Given the description of an element on the screen output the (x, y) to click on. 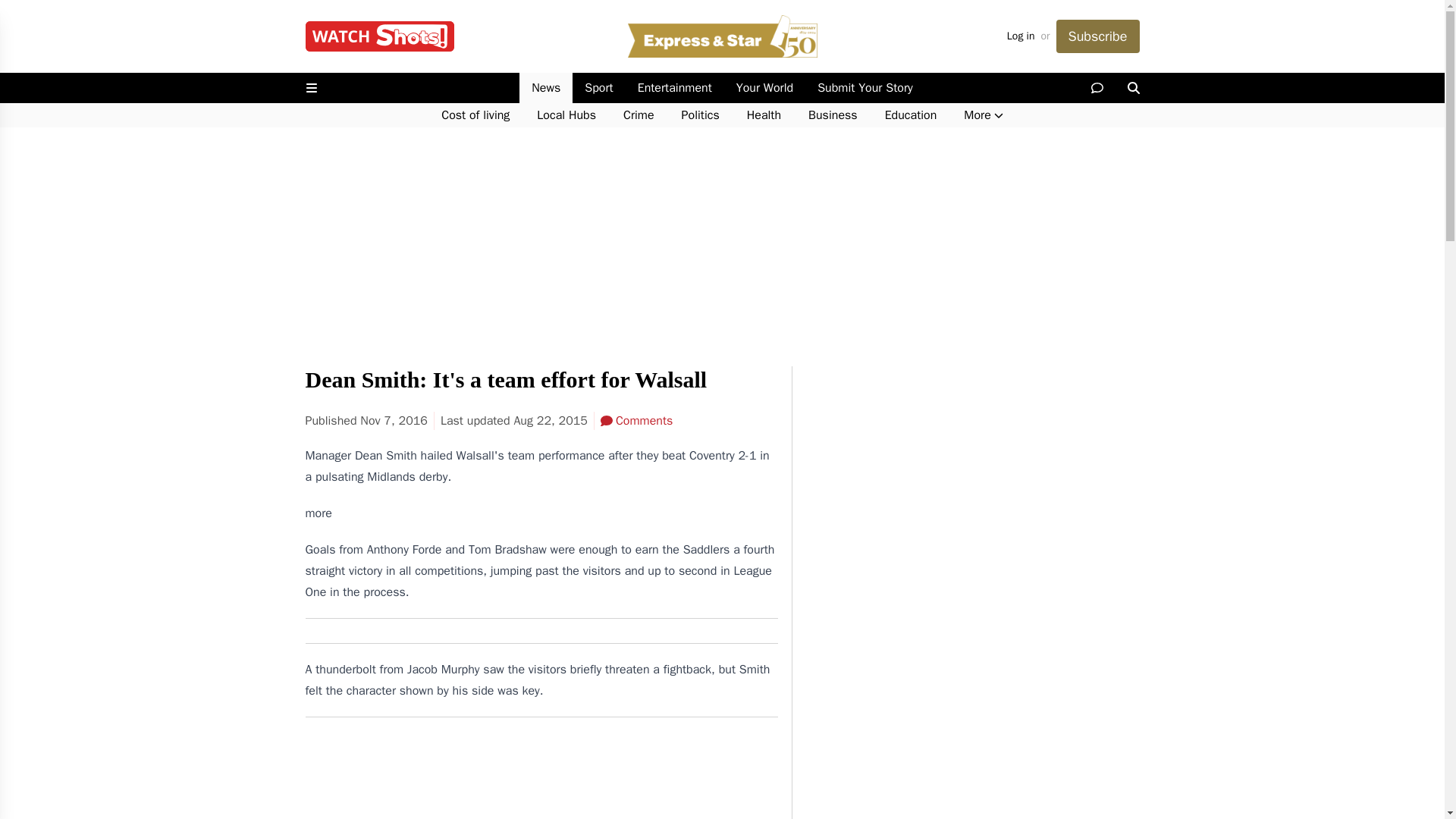
Business (832, 115)
More (983, 115)
Politics (700, 115)
Local Hubs (566, 115)
Sport (598, 87)
Log in (1021, 36)
Health (764, 115)
Cost of living (475, 115)
Subscribe (1096, 36)
Submit Your Story (864, 87)
